Given the description of an element on the screen output the (x, y) to click on. 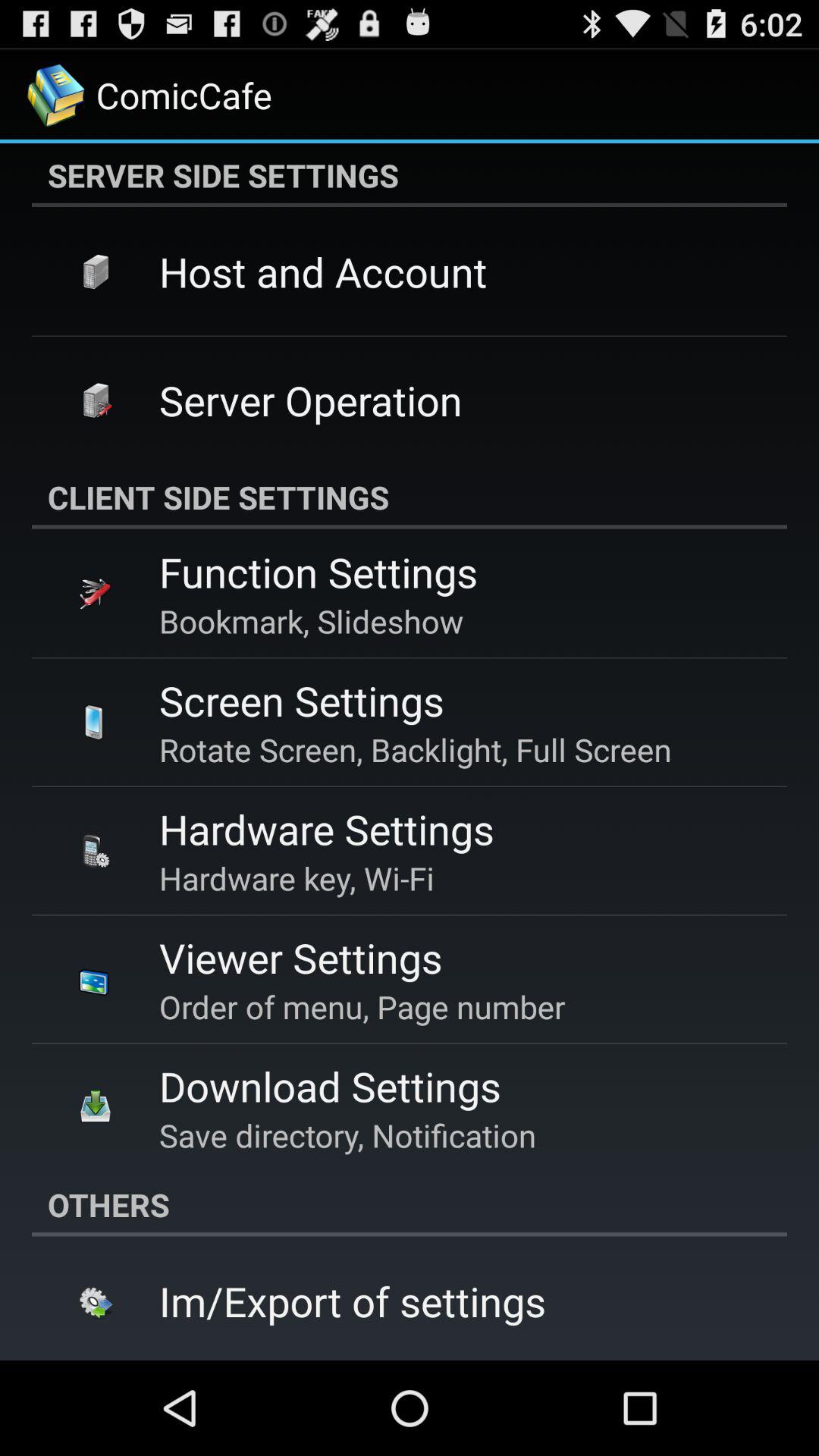
open the item below screen settings (415, 749)
